Given the description of an element on the screen output the (x, y) to click on. 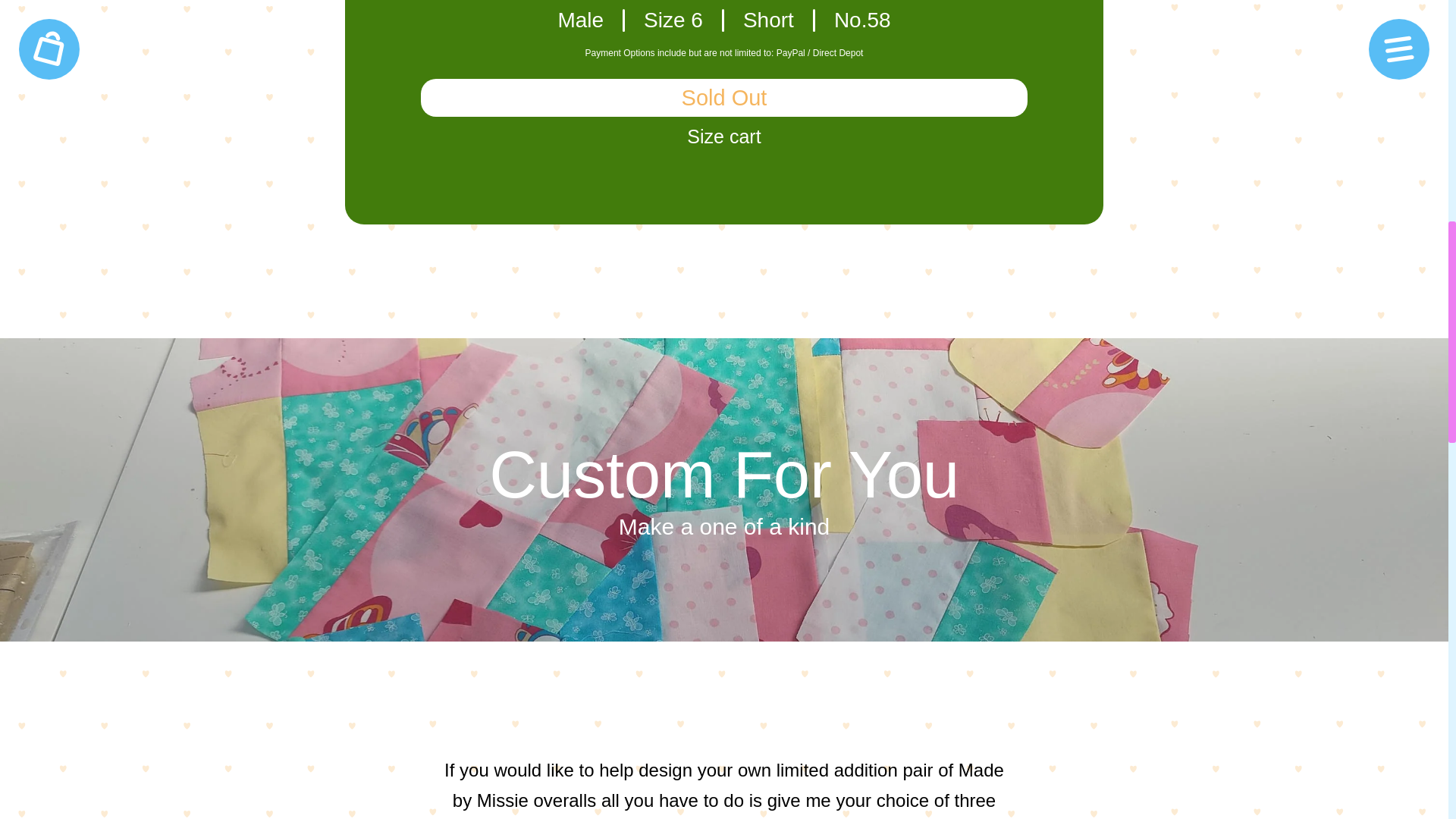
Size cart (723, 136)
